Given the description of an element on the screen output the (x, y) to click on. 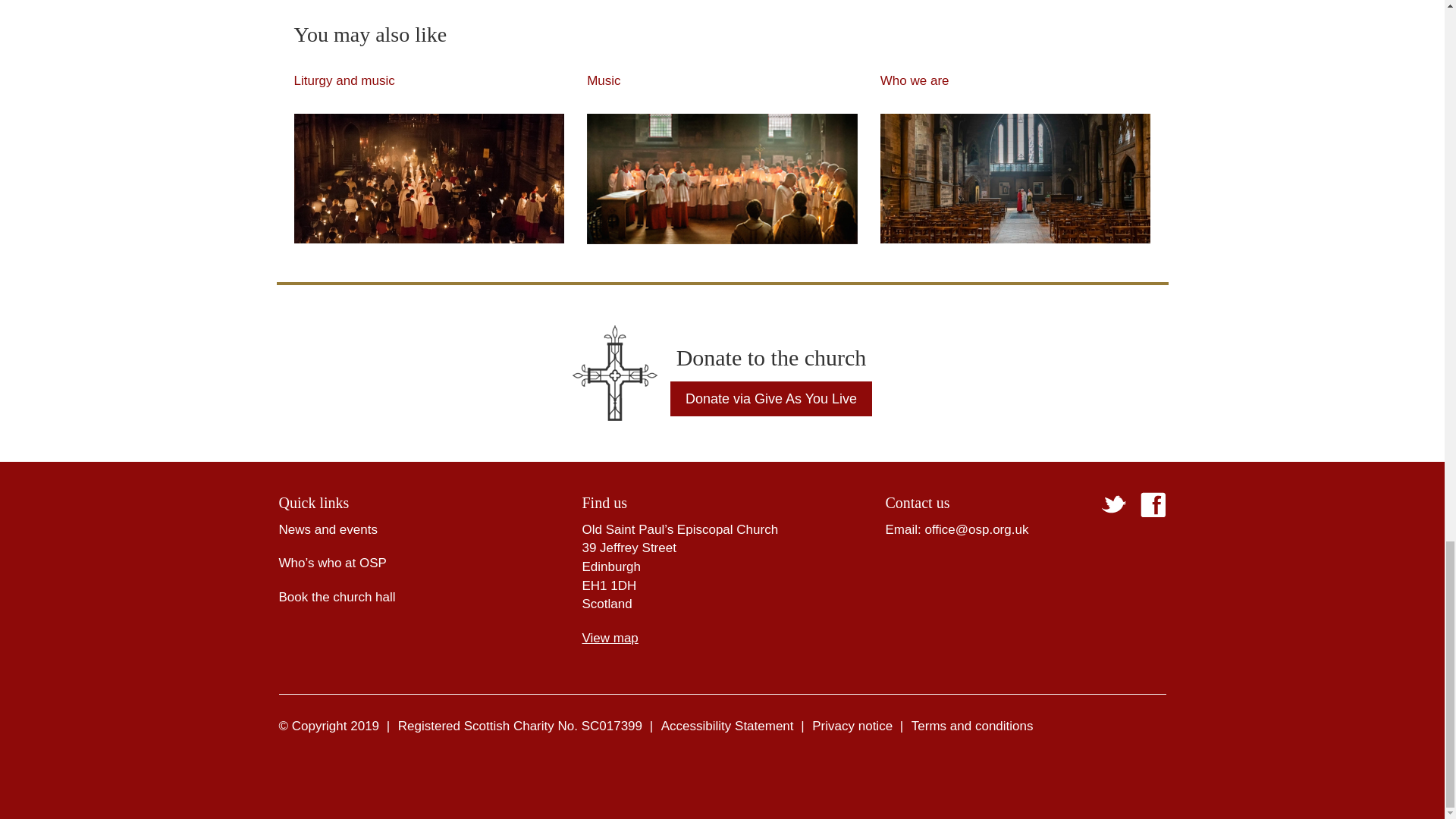
Twitter (1113, 504)
FaceBook (1153, 504)
